Given the description of an element on the screen output the (x, y) to click on. 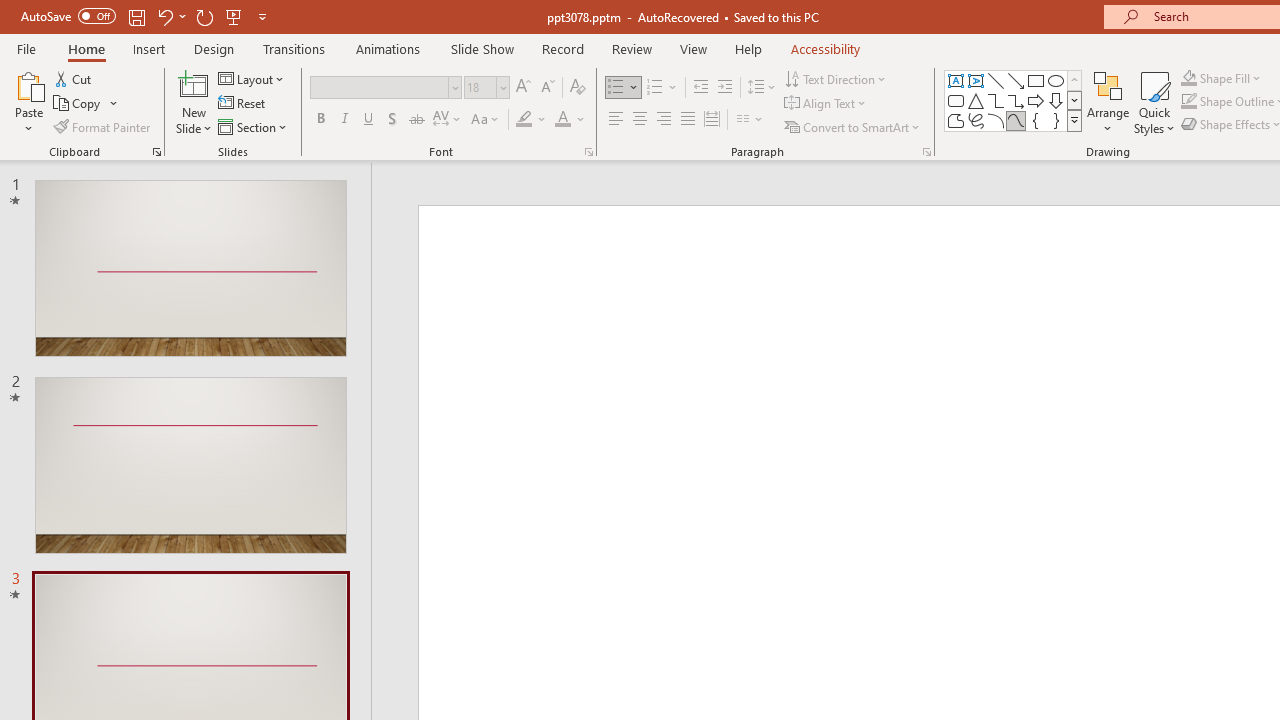
Section (254, 126)
Connector: Elbow Arrow (1016, 100)
Arrow: Down (1055, 100)
Font (379, 87)
Align Right (663, 119)
Bold (320, 119)
Font Size (486, 87)
Decrease Indent (700, 87)
Columns (750, 119)
Font Color (569, 119)
Format Painter (103, 126)
Rectangle (1035, 80)
From Beginning (234, 15)
Reset (243, 103)
